Given the description of an element on the screen output the (x, y) to click on. 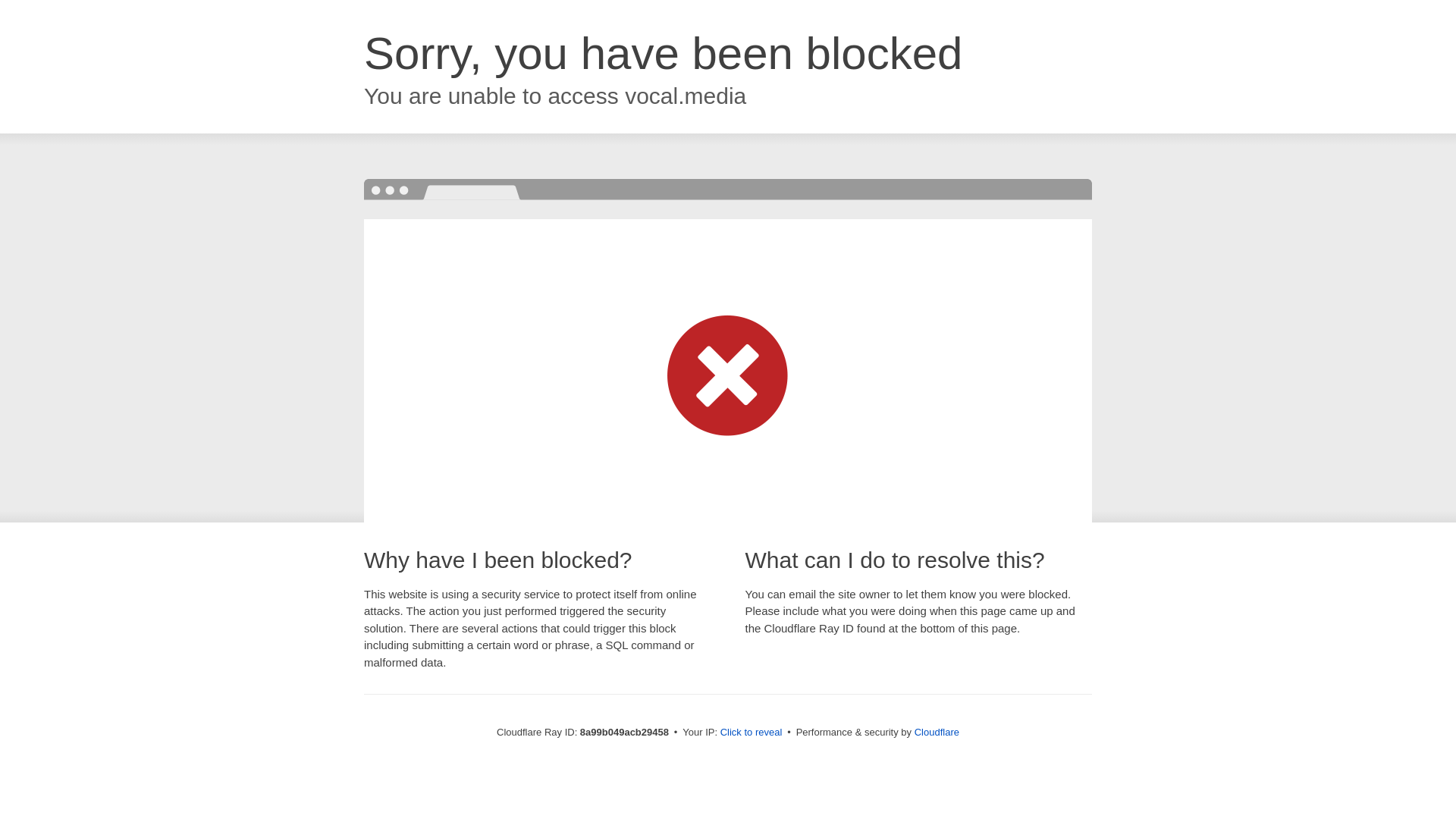
Click to reveal (751, 732)
Cloudflare (936, 731)
